Given the description of an element on the screen output the (x, y) to click on. 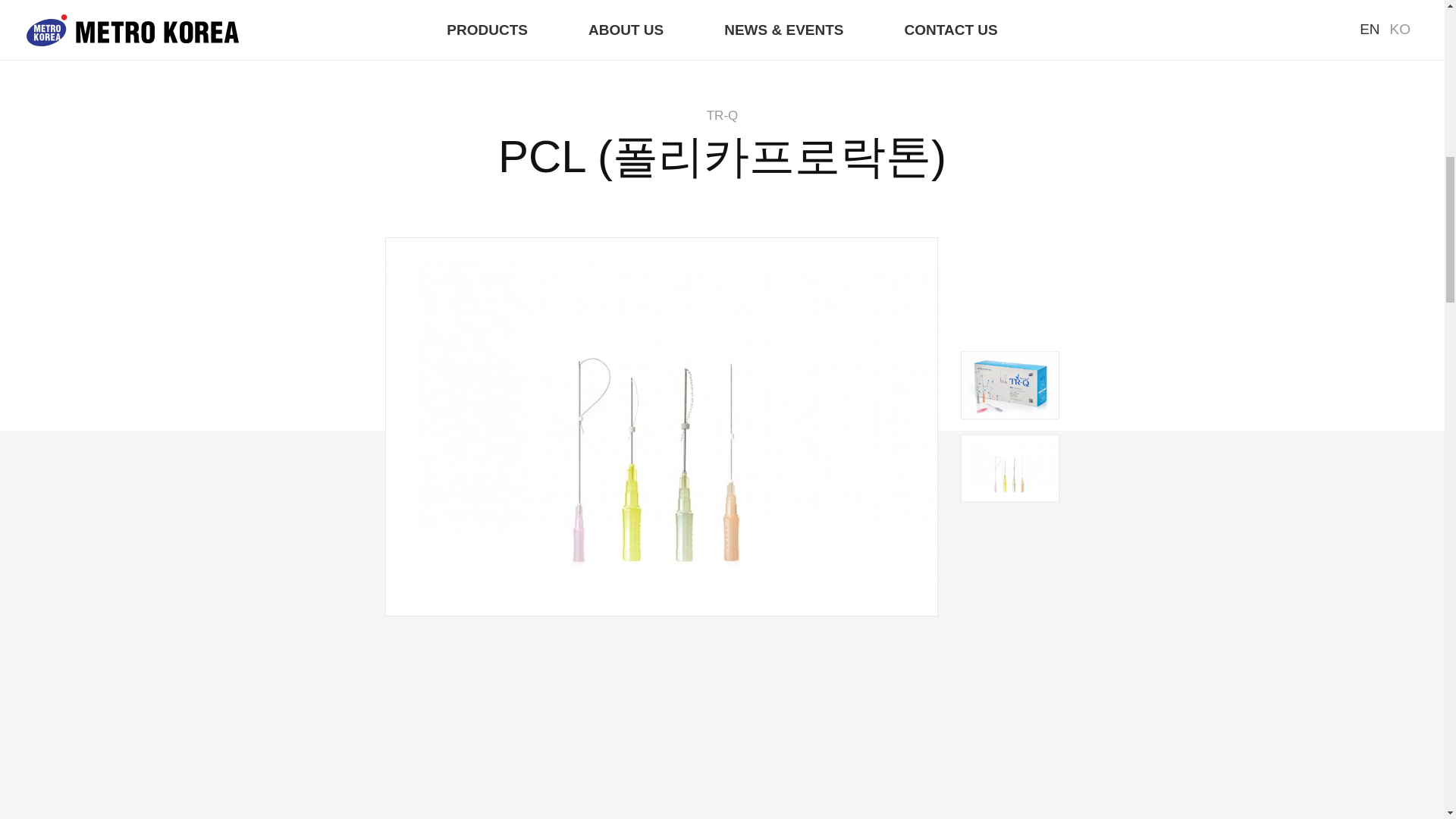
PDO (508, 20)
Special Types (901, 20)
PLLA (599, 20)
PCL (687, 20)
PLCL (778, 20)
